Given the description of an element on the screen output the (x, y) to click on. 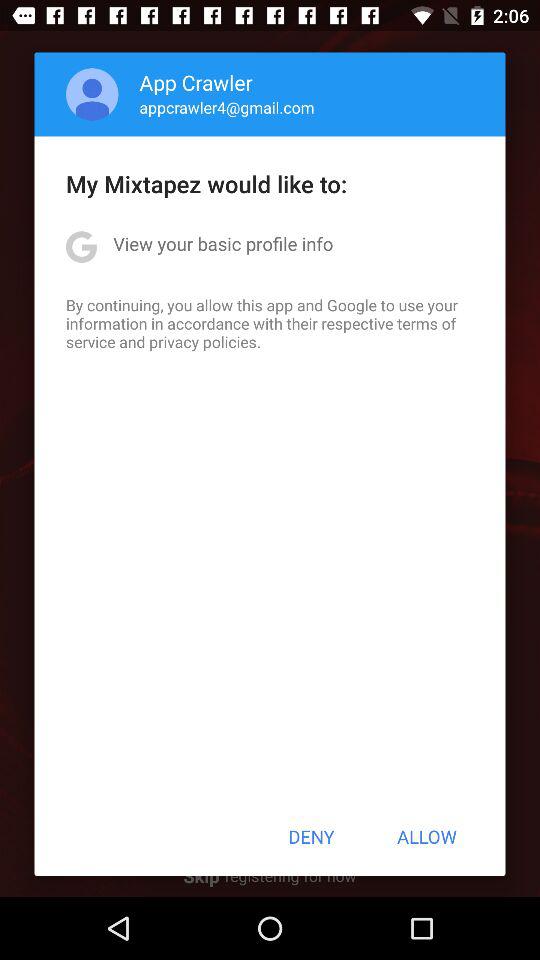
jump to the deny icon (311, 836)
